Given the description of an element on the screen output the (x, y) to click on. 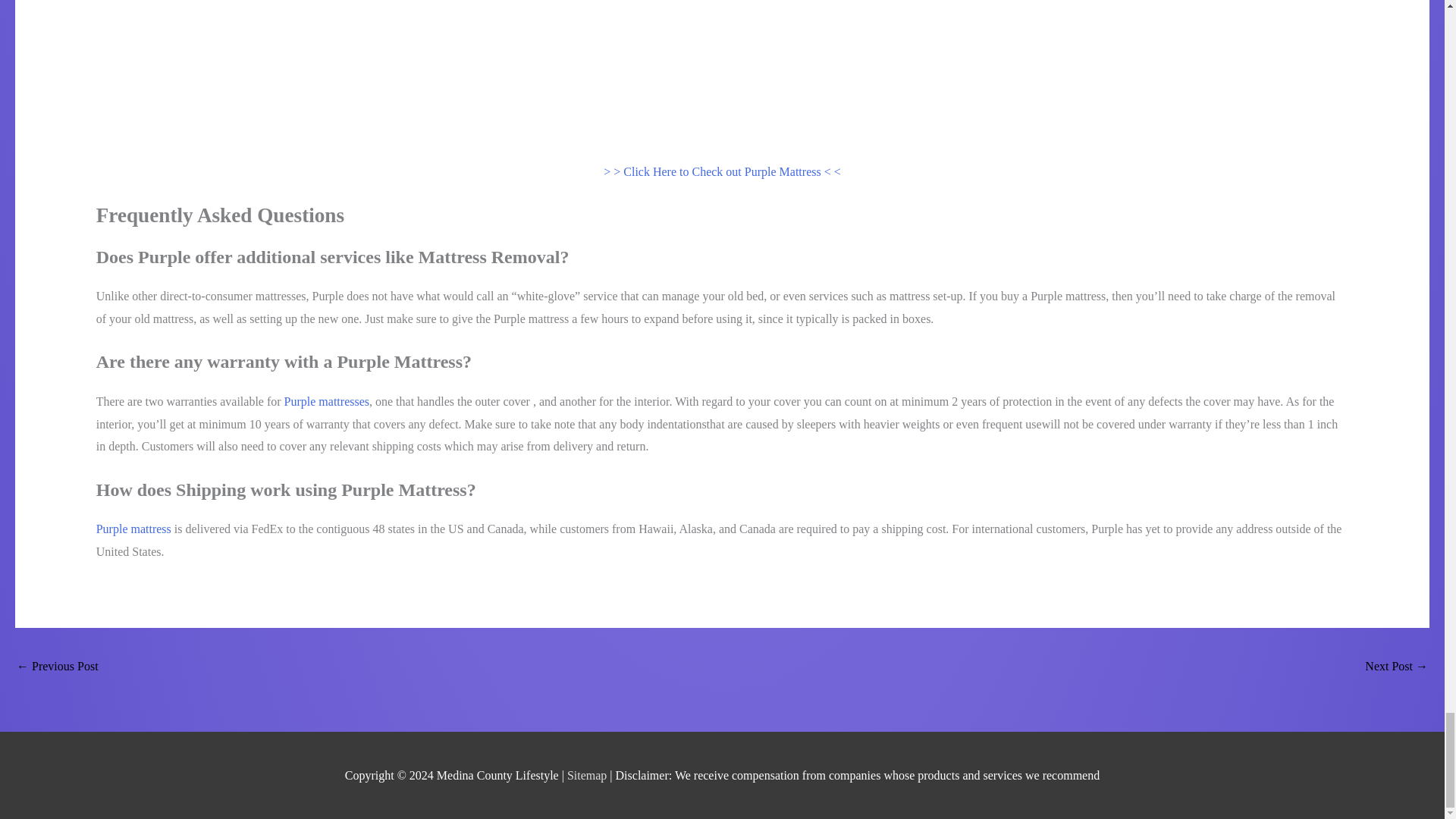
Purple mattress (133, 528)
Purple mattresses (326, 400)
Purple Mattress Cyber Monday 2023 (57, 667)
Sitemap (588, 775)
How Do You Get Purple Mattress Back Into The Bag (1396, 667)
